Given the description of an element on the screen output the (x, y) to click on. 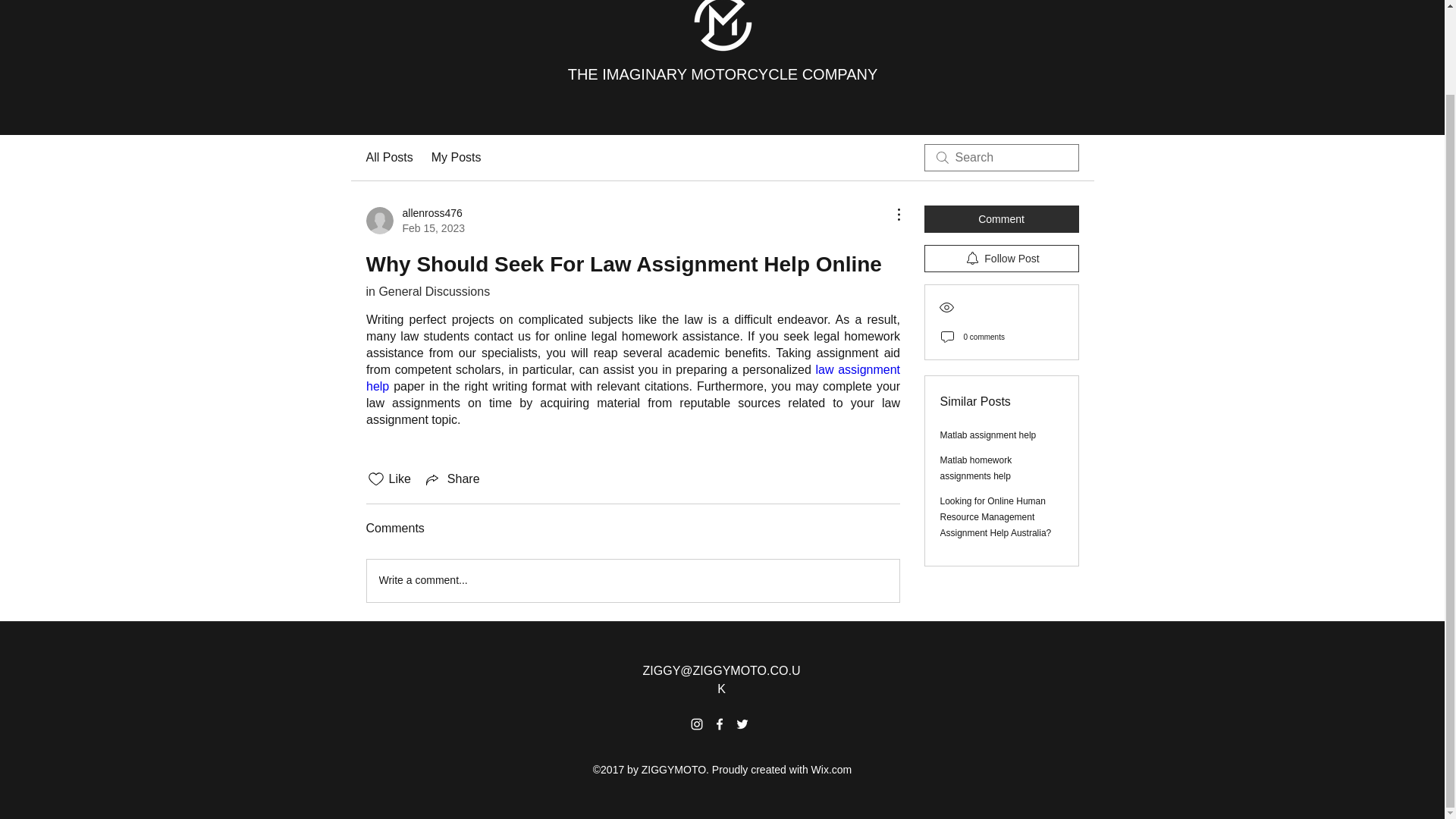
Write a comment... (632, 580)
Comment (1000, 218)
Share (451, 479)
in General Discussions (414, 220)
law assignment help (427, 291)
My Posts (633, 378)
All Posts (455, 157)
Follow Post (388, 157)
Matlab homework assignments help (1000, 257)
Matlab assignment help (975, 468)
